Given the description of an element on the screen output the (x, y) to click on. 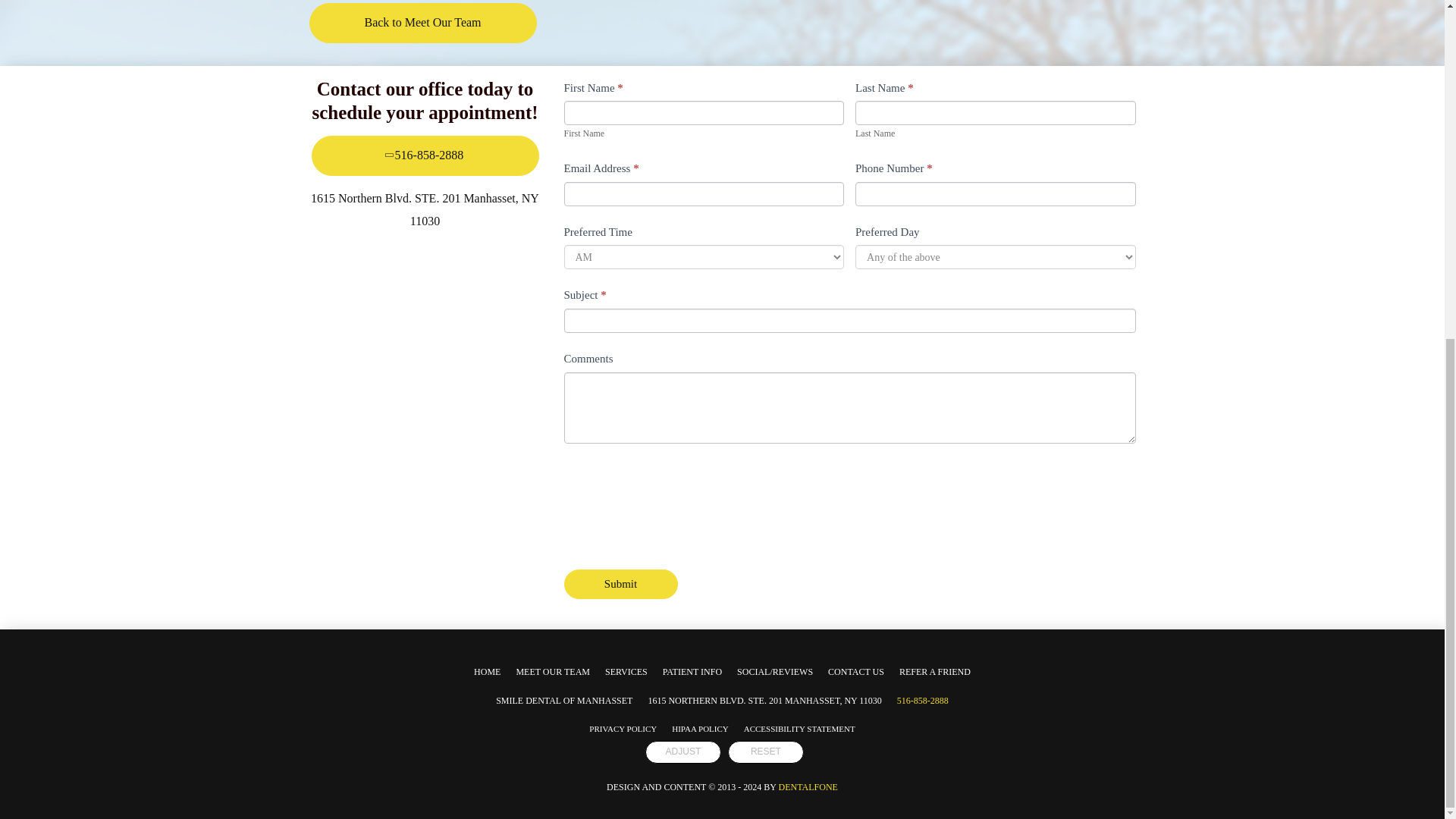
Submit (621, 583)
